Given the description of an element on the screen output the (x, y) to click on. 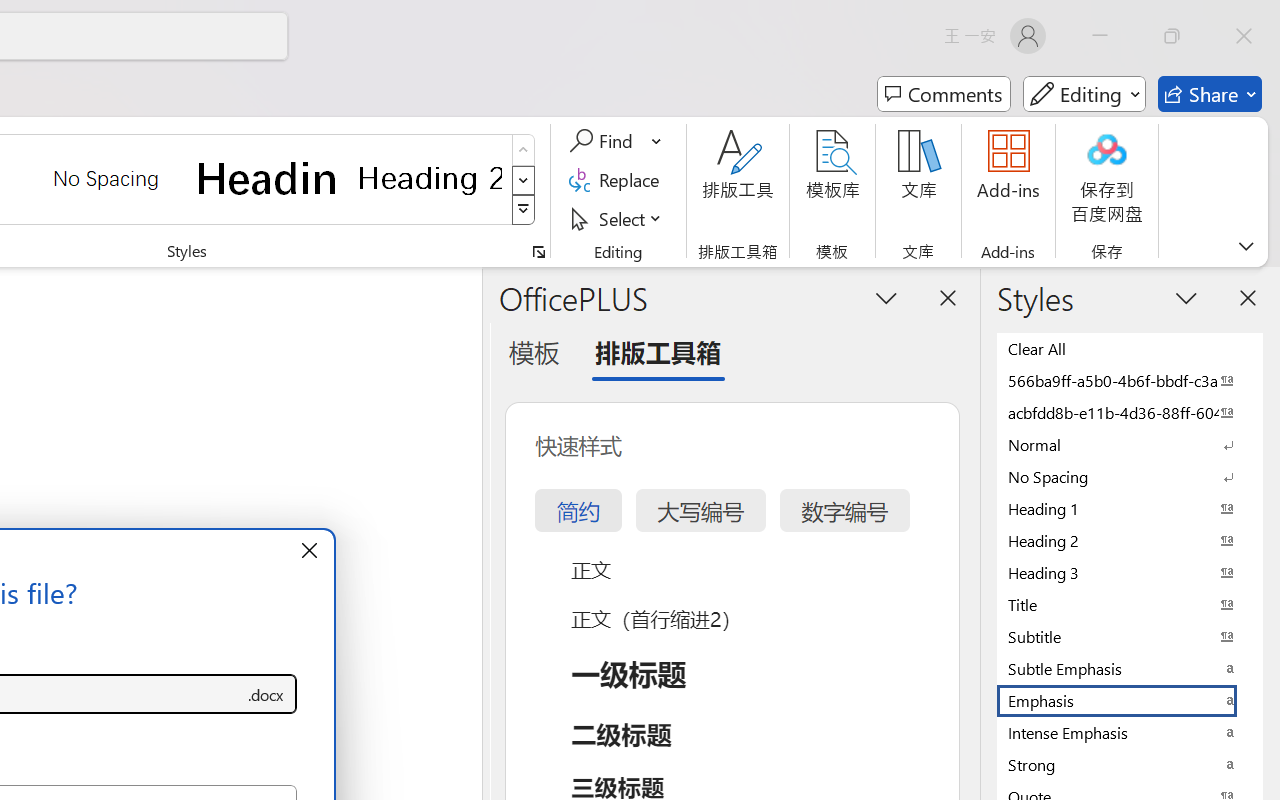
Minimize (1099, 36)
Share (1210, 94)
Heading 2 (429, 178)
Subtitle (1130, 636)
acbfdd8b-e11b-4d36-88ff-6049b138f862 (1130, 412)
Heading 3 (1130, 572)
Styles (523, 209)
Clear All (1130, 348)
566ba9ff-a5b0-4b6f-bbdf-c3ab41993fc2 (1130, 380)
Comments (943, 94)
Find (604, 141)
Mode (1083, 94)
